Given the description of an element on the screen output the (x, y) to click on. 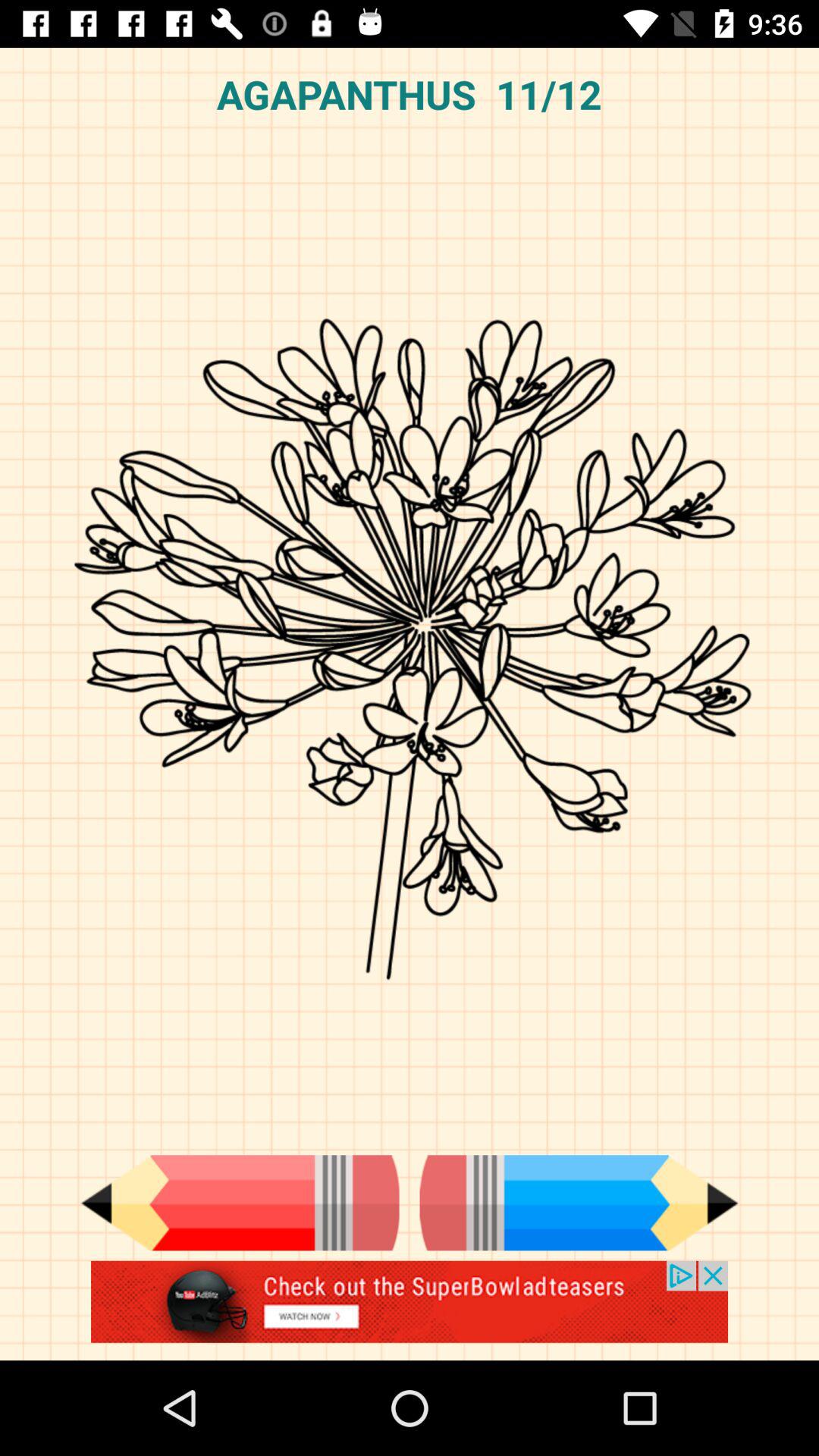
go back (239, 1202)
